Given the description of an element on the screen output the (x, y) to click on. 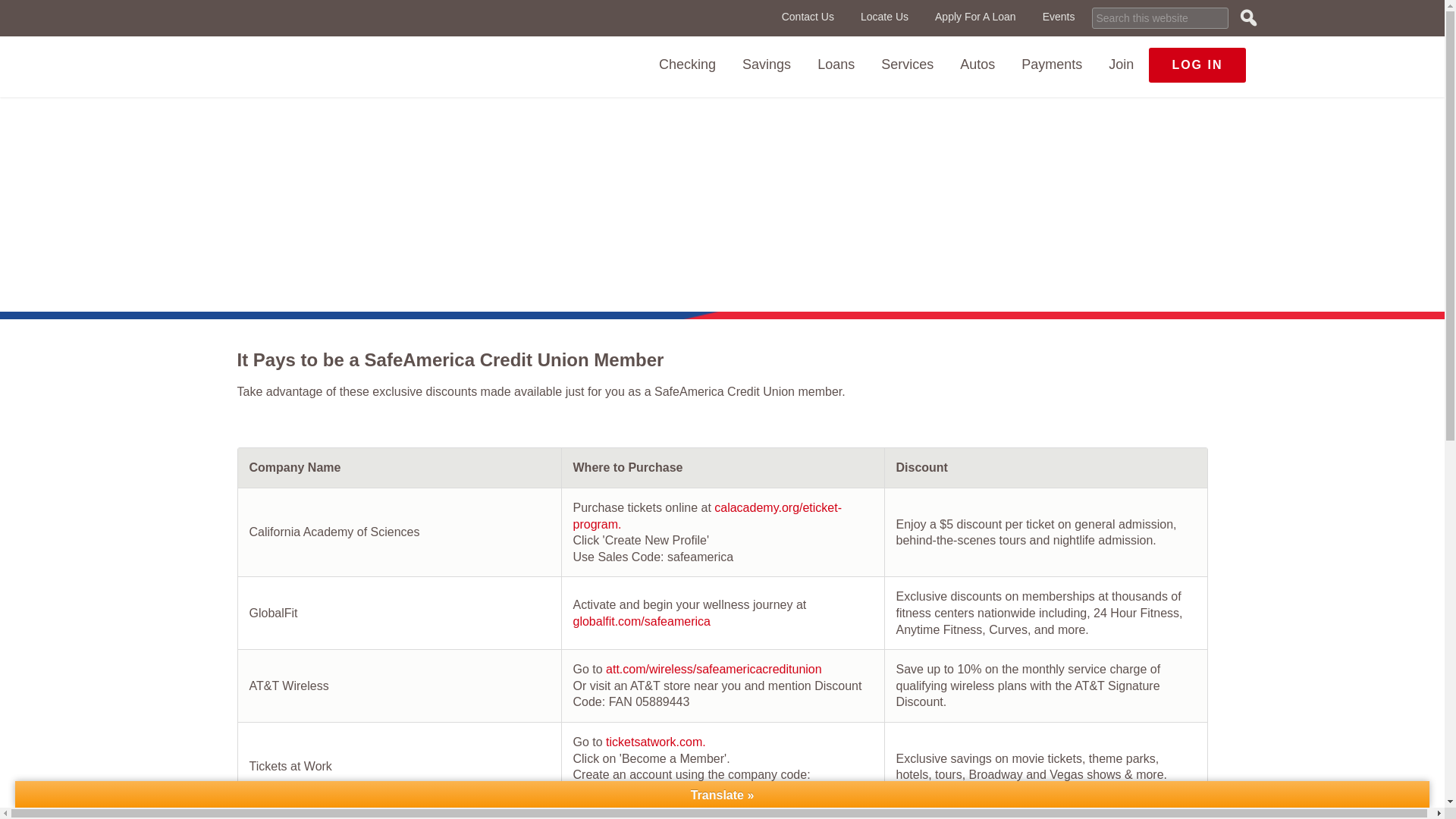
ticketsatwork.com. (655, 741)
Locate Us (884, 16)
Autos (977, 63)
Contact Us (807, 16)
Services (906, 63)
Loans (836, 63)
Events (1058, 16)
Apply For A Loan (975, 16)
Log In to Online Banking (1196, 64)
Payments (1051, 63)
